Given the description of an element on the screen output the (x, y) to click on. 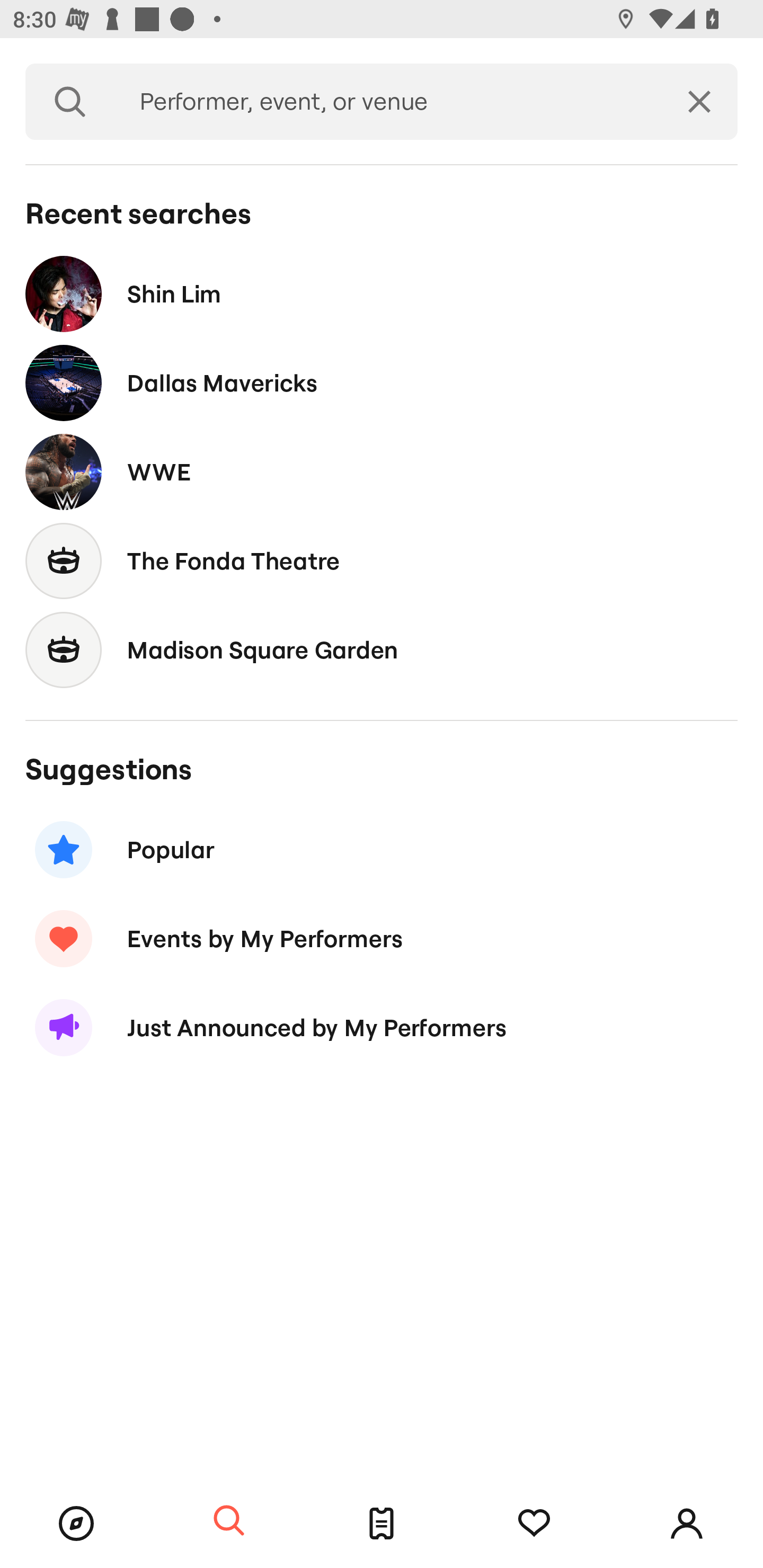
Search (69, 101)
Performer, event, or venue (387, 101)
Clear (699, 101)
Shin Lim (381, 293)
Dallas Mavericks (381, 383)
WWE (381, 471)
The Fonda Theatre (381, 560)
Madison Square Garden (381, 649)
Popular (381, 849)
Events by My Performers (381, 938)
Just Announced by My Performers (381, 1027)
Browse (76, 1523)
Search (228, 1521)
Tickets (381, 1523)
Tracking (533, 1523)
Account (686, 1523)
